Given the description of an element on the screen output the (x, y) to click on. 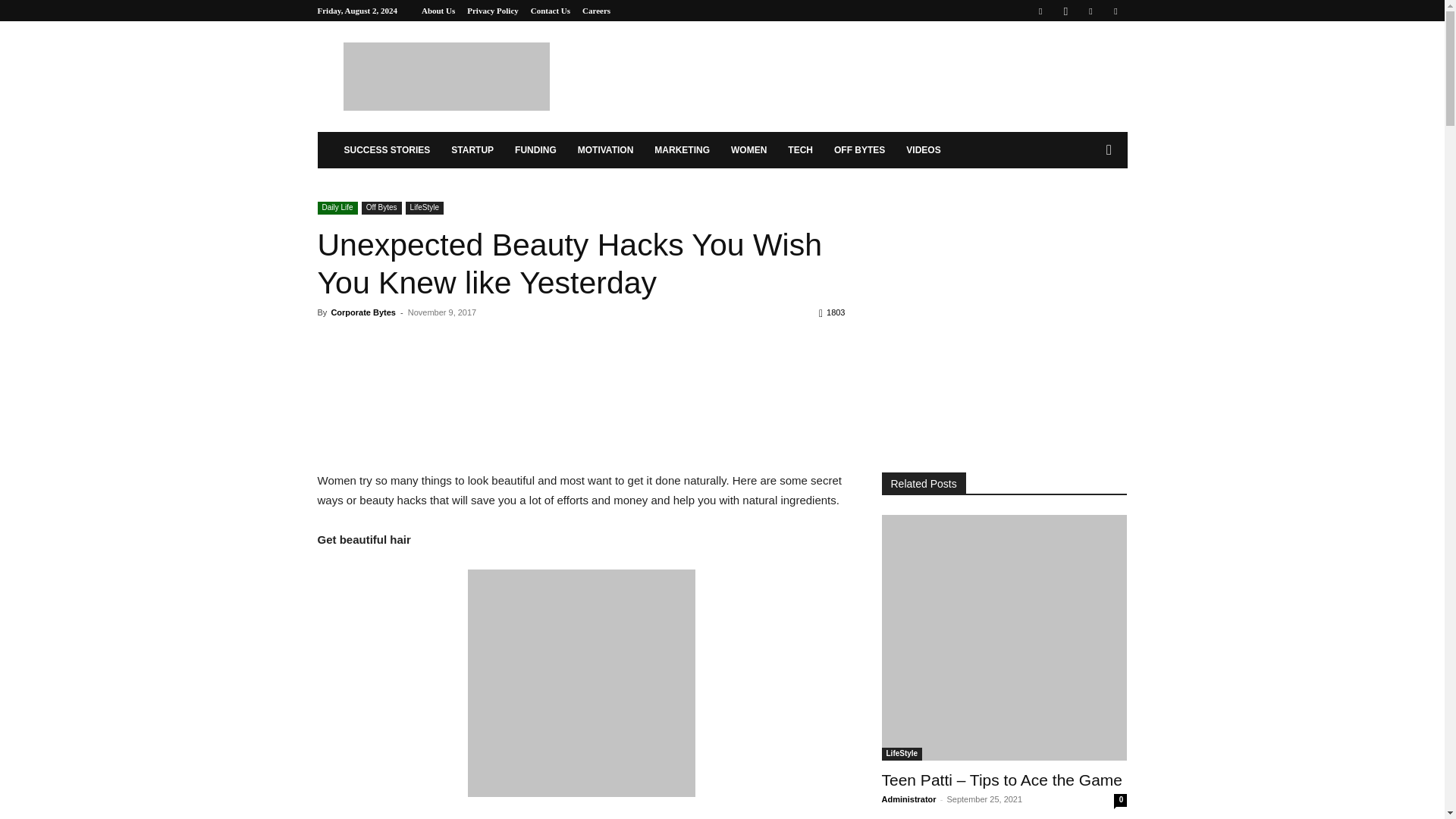
STARTUP (472, 149)
Careers (596, 10)
Pinterest (1090, 10)
Privacy Policy (492, 10)
MARKETING (681, 149)
Instagram (1065, 10)
Twitter (1114, 10)
Contact Us (550, 10)
About Us (438, 10)
MOTIVATION (606, 149)
